Given the description of an element on the screen output the (x, y) to click on. 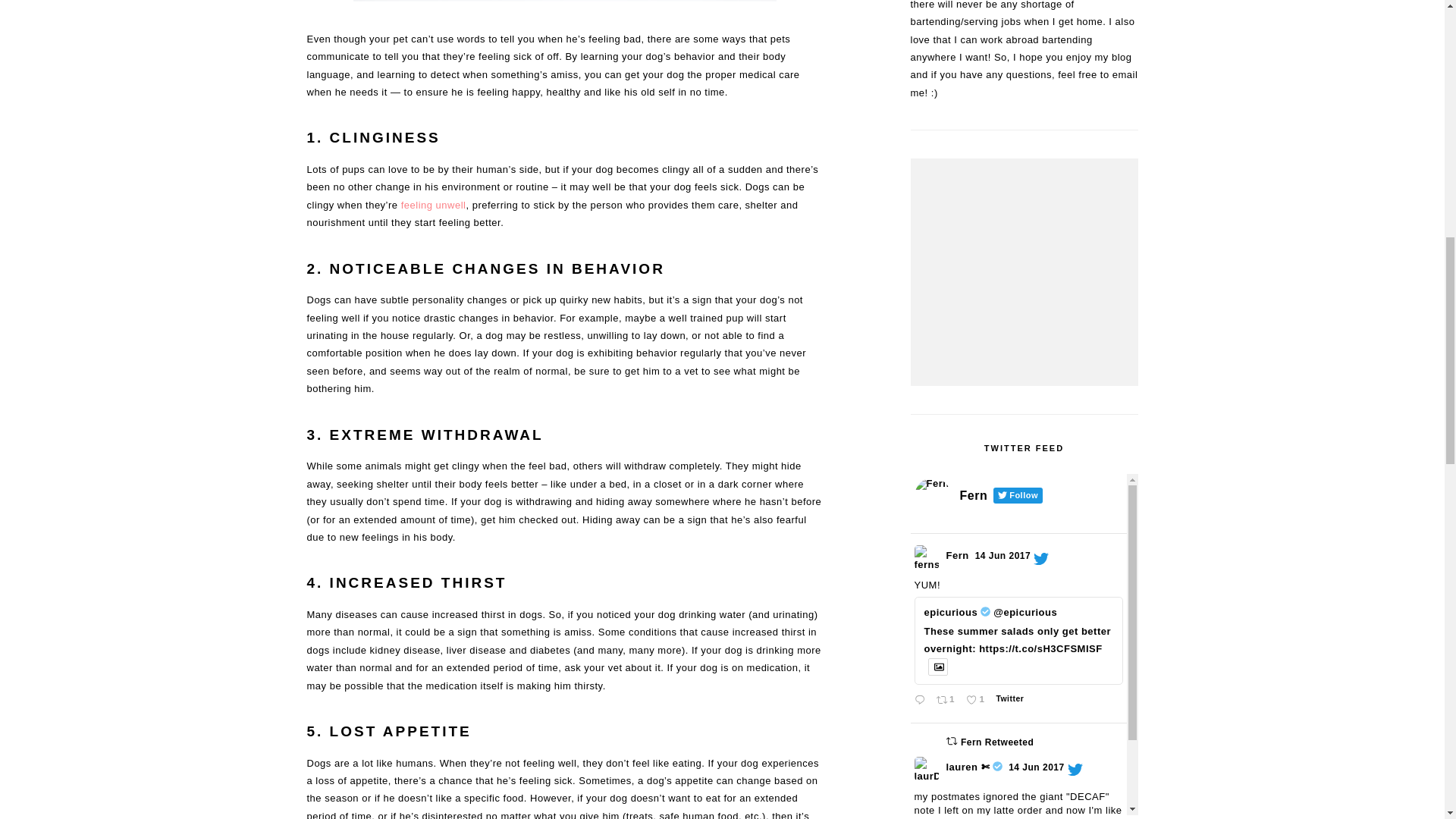
14 Jun 2017 (1002, 555)
Fern (957, 555)
Reply on Twitter 874790301960982528 (920, 701)
feeling unwell (433, 204)
FernFollow (947, 701)
